Given the description of an element on the screen output the (x, y) to click on. 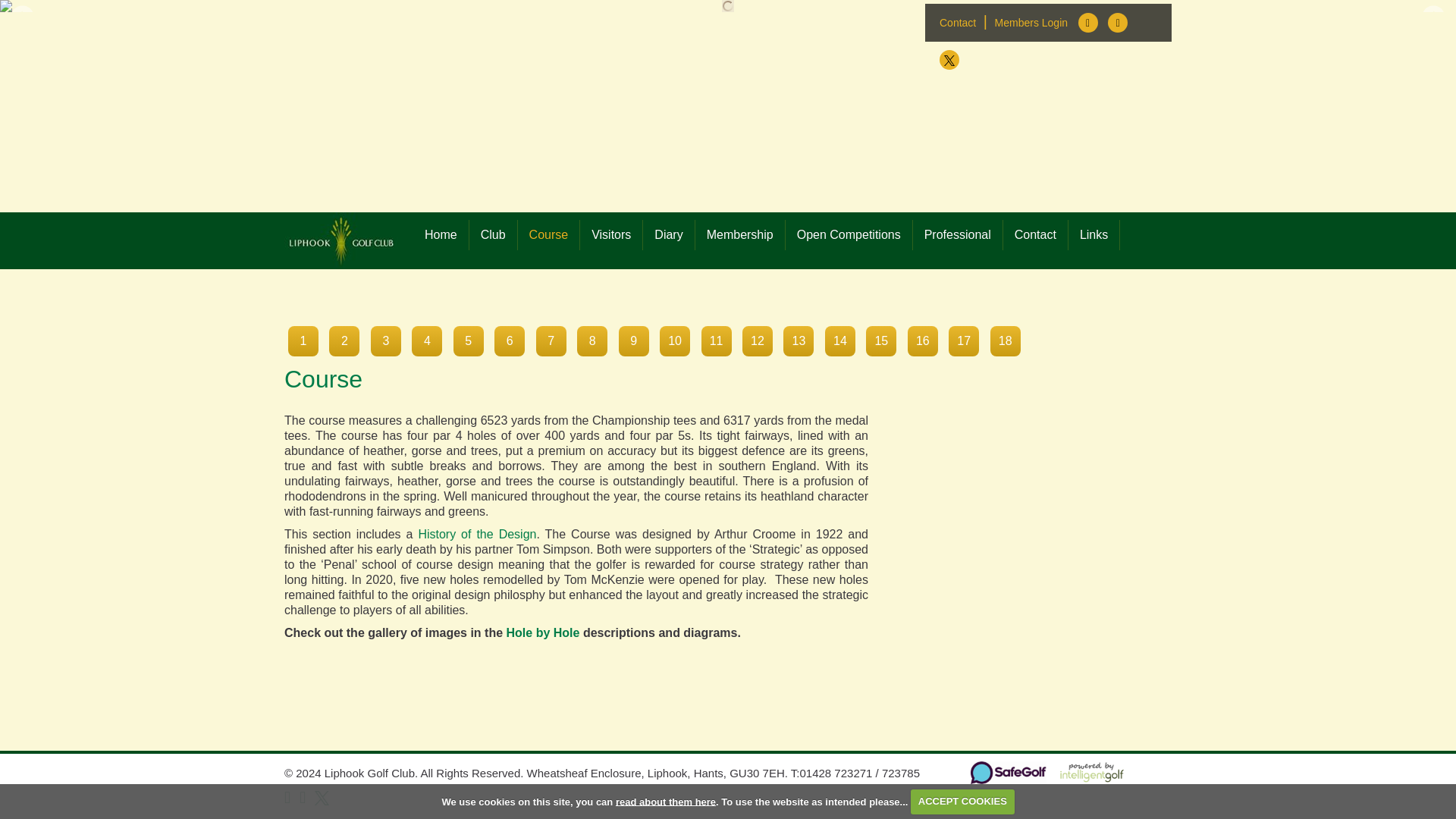
Contact (957, 22)
Members Login (1031, 22)
